Given the description of an element on the screen output the (x, y) to click on. 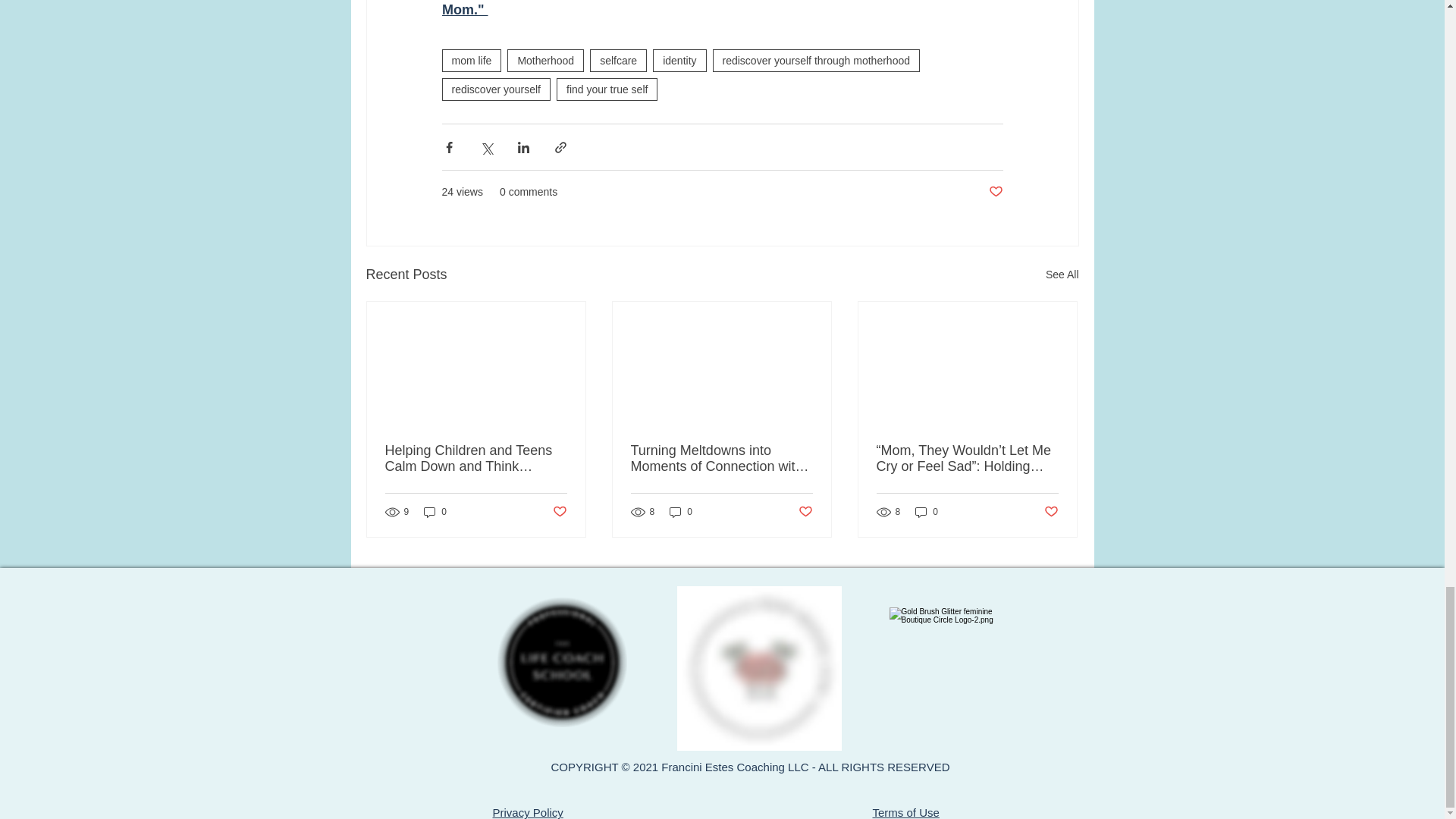
0 (435, 512)
identity (679, 60)
rediscover yourself (495, 88)
0 (681, 512)
rediscover yourself through motherhood (816, 60)
selfcare (617, 60)
See All (1061, 274)
mom life (470, 60)
find your true self (607, 88)
